Given the description of an element on the screen output the (x, y) to click on. 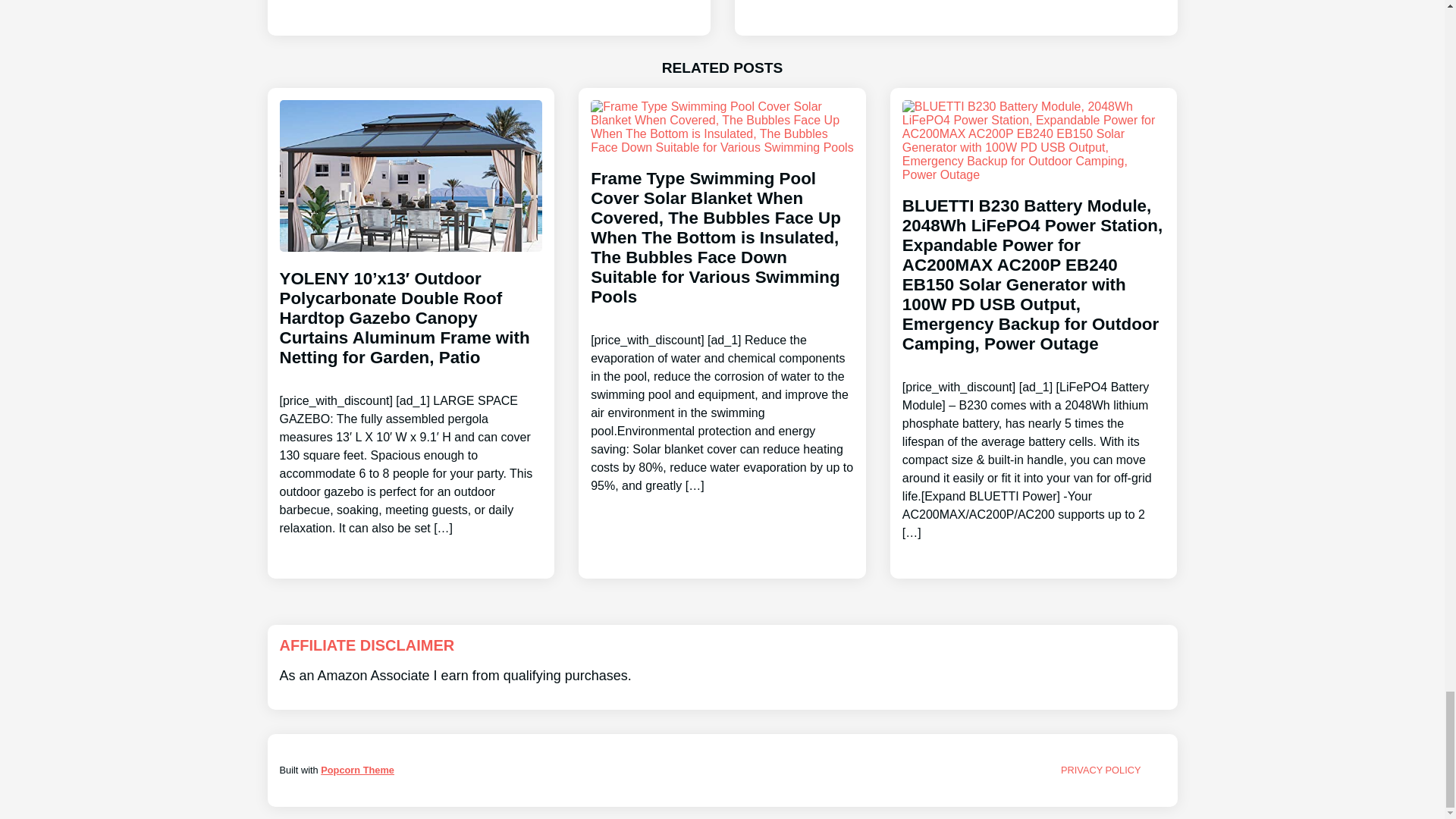
Popcorn Theme (357, 769)
PRIVACY POLICY (1101, 769)
